Given the description of an element on the screen output the (x, y) to click on. 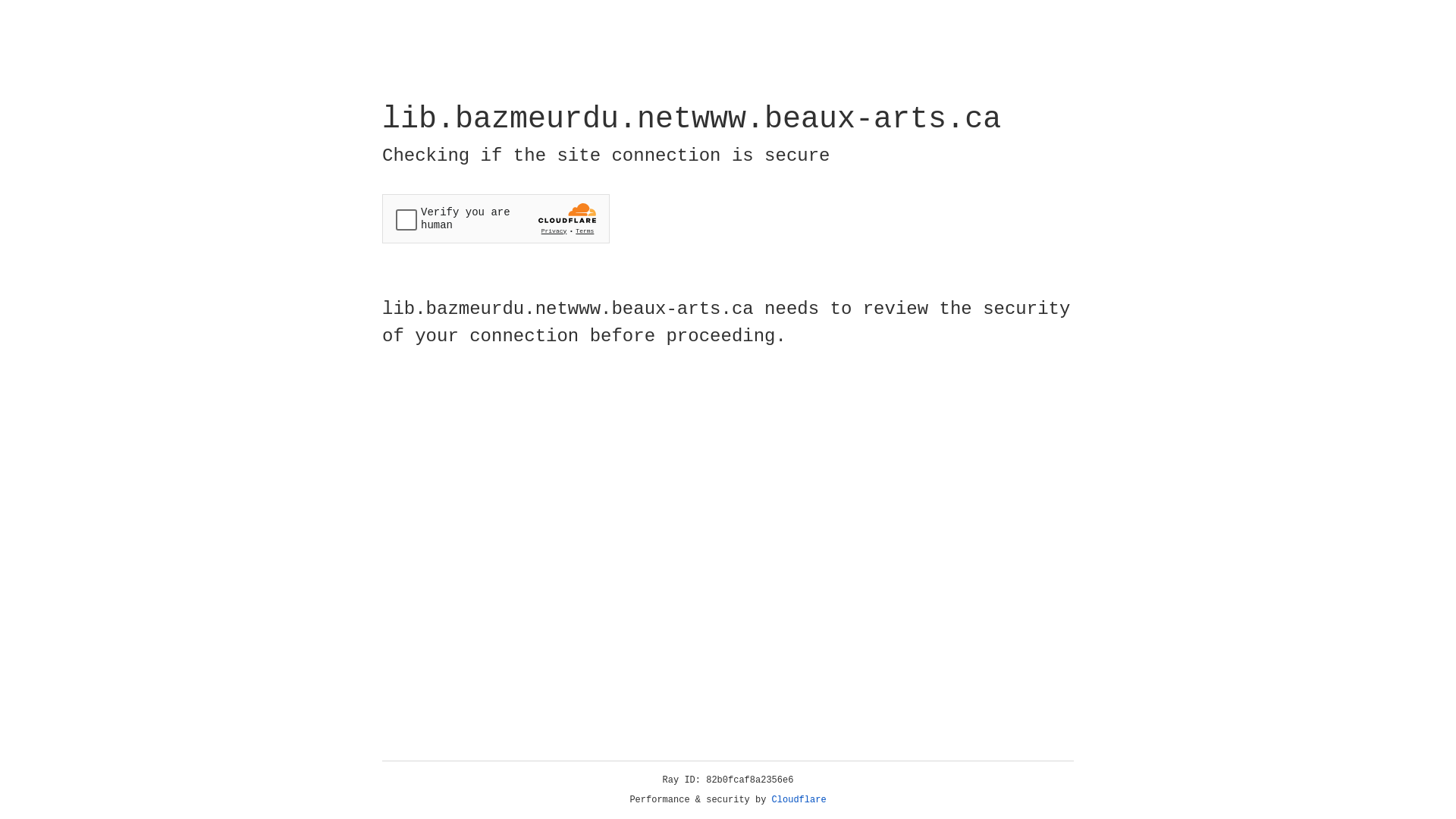
Cloudflare Element type: text (798, 799)
Widget containing a Cloudflare security challenge Element type: hover (495, 218)
